Given the description of an element on the screen output the (x, y) to click on. 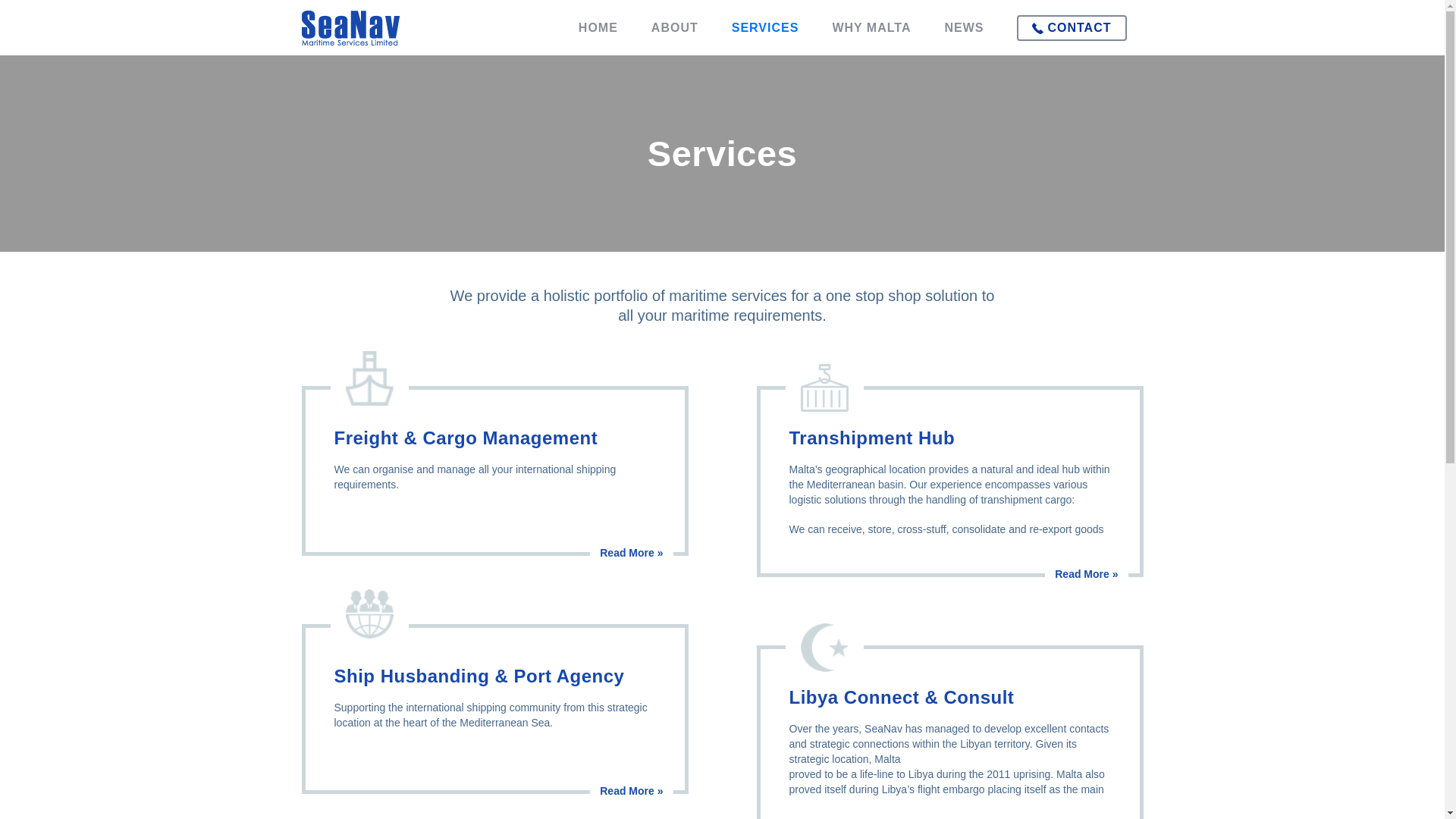
CONTACT (1070, 27)
WHY MALTA (871, 27)
NEWS (963, 27)
Transhipment Hub (662, 635)
Ship Registration (662, 688)
SERVICES (765, 27)
HOME (597, 27)
SeaNav (358, 26)
ABOUT (674, 27)
